Given the description of an element on the screen output the (x, y) to click on. 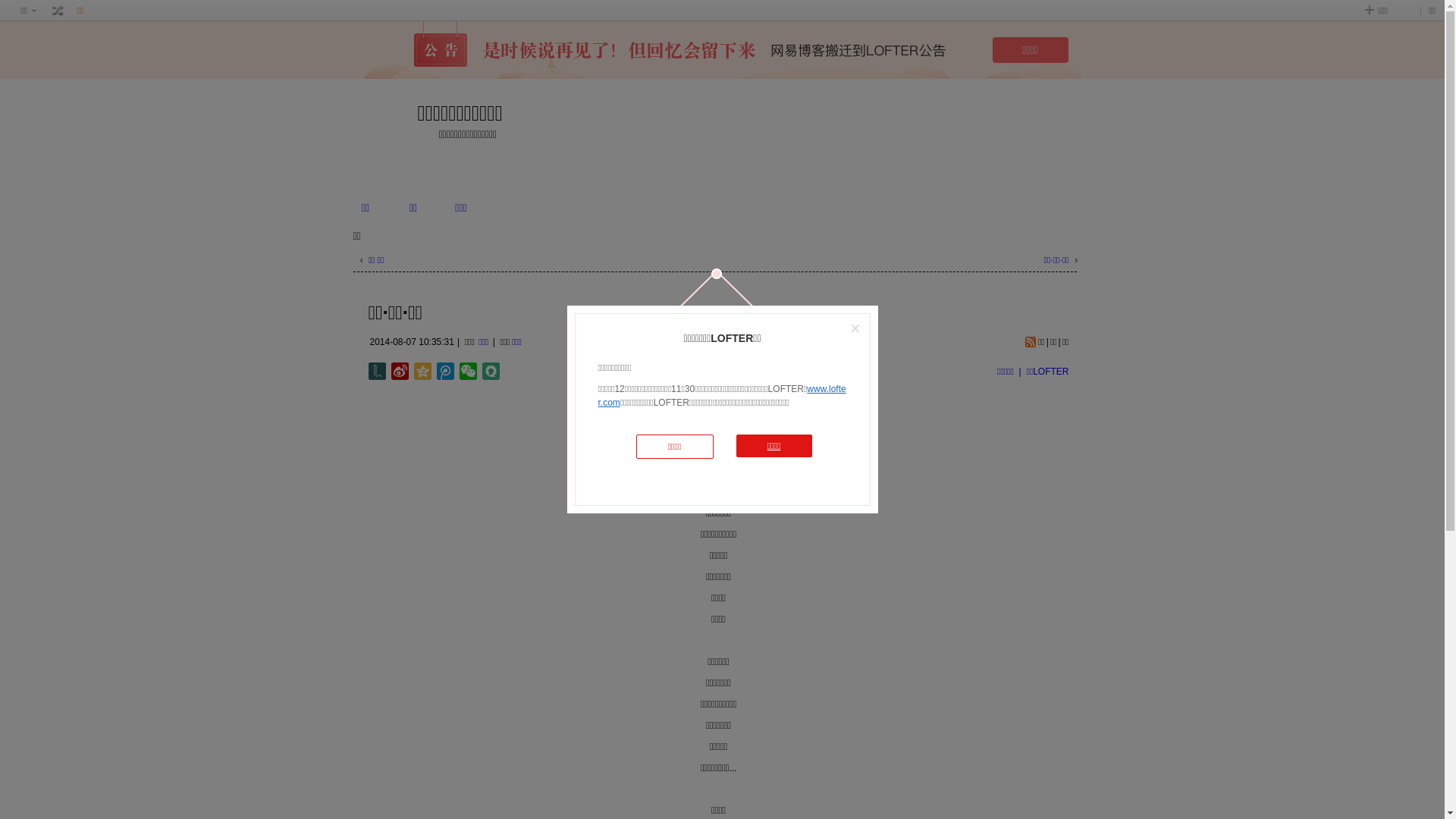
  Element type: text (58, 10)
www.lofter.com Element type: text (721, 395)
